Given the description of an element on the screen output the (x, y) to click on. 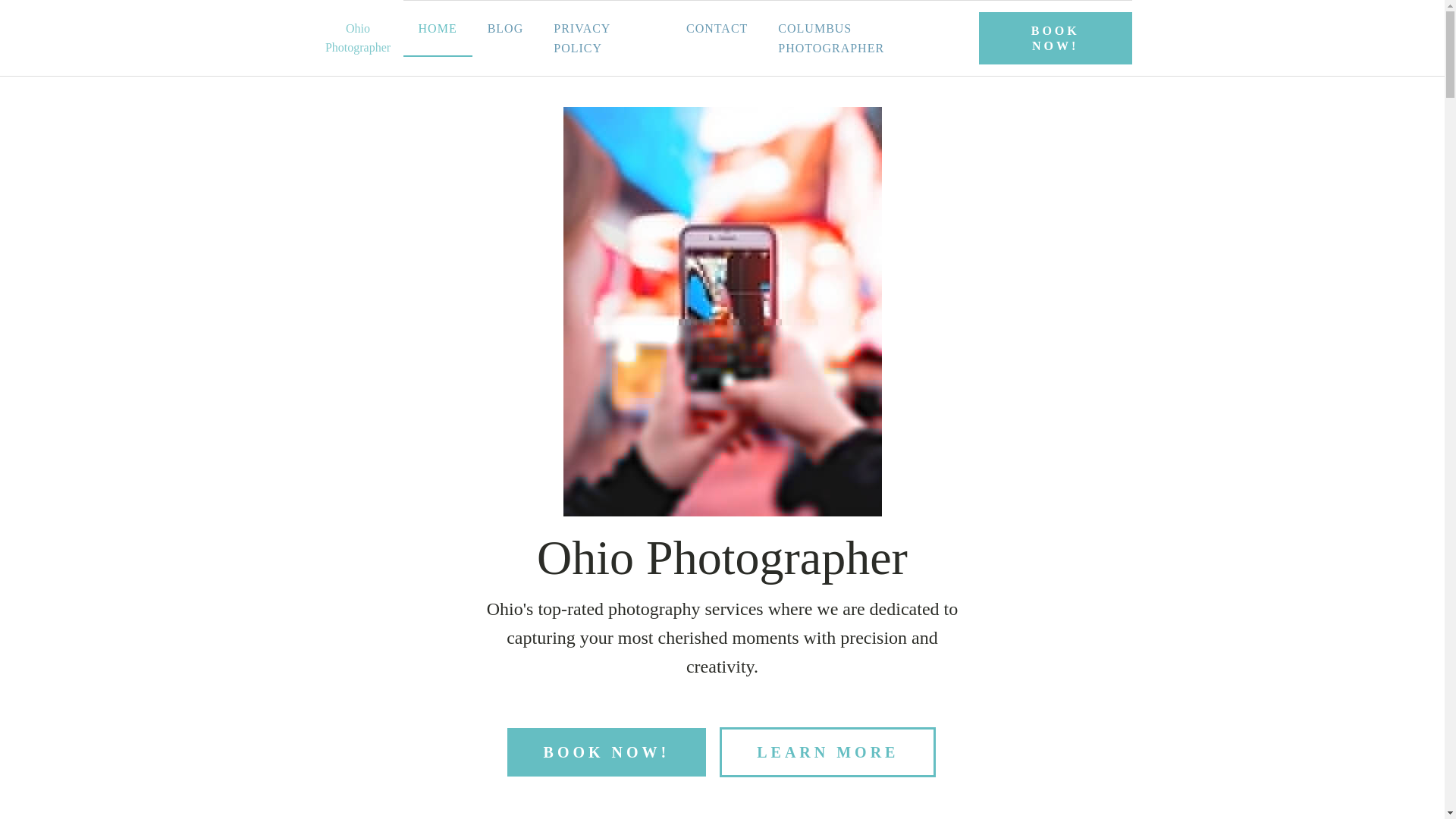
CONTACT (716, 28)
BOOK NOW! (1055, 37)
HOME (437, 28)
PRIVACY POLICY (604, 38)
BOOK NOW! (606, 752)
Ohio Photographer (358, 37)
COLUMBUS PHOTOGRAPHER (864, 38)
BLOG (504, 28)
LEARN MORE (827, 752)
